Given the description of an element on the screen output the (x, y) to click on. 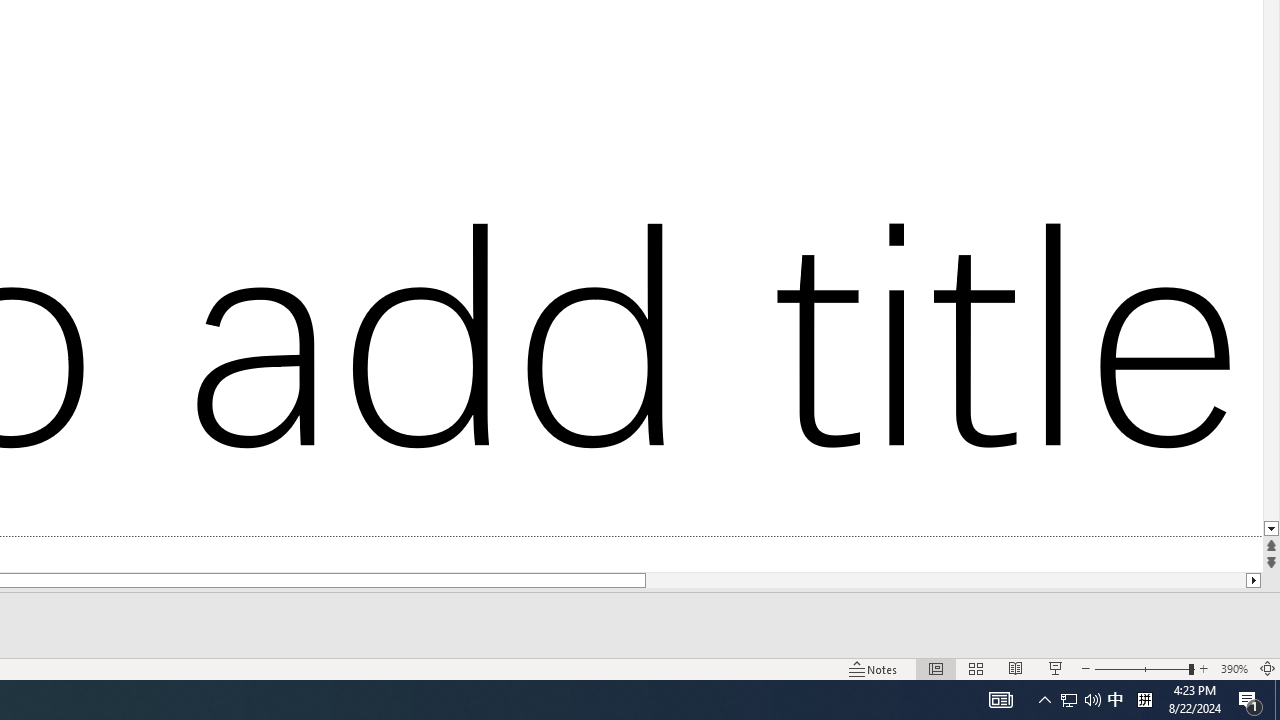
Zoom 390% (1234, 668)
